Given the description of an element on the screen output the (x, y) to click on. 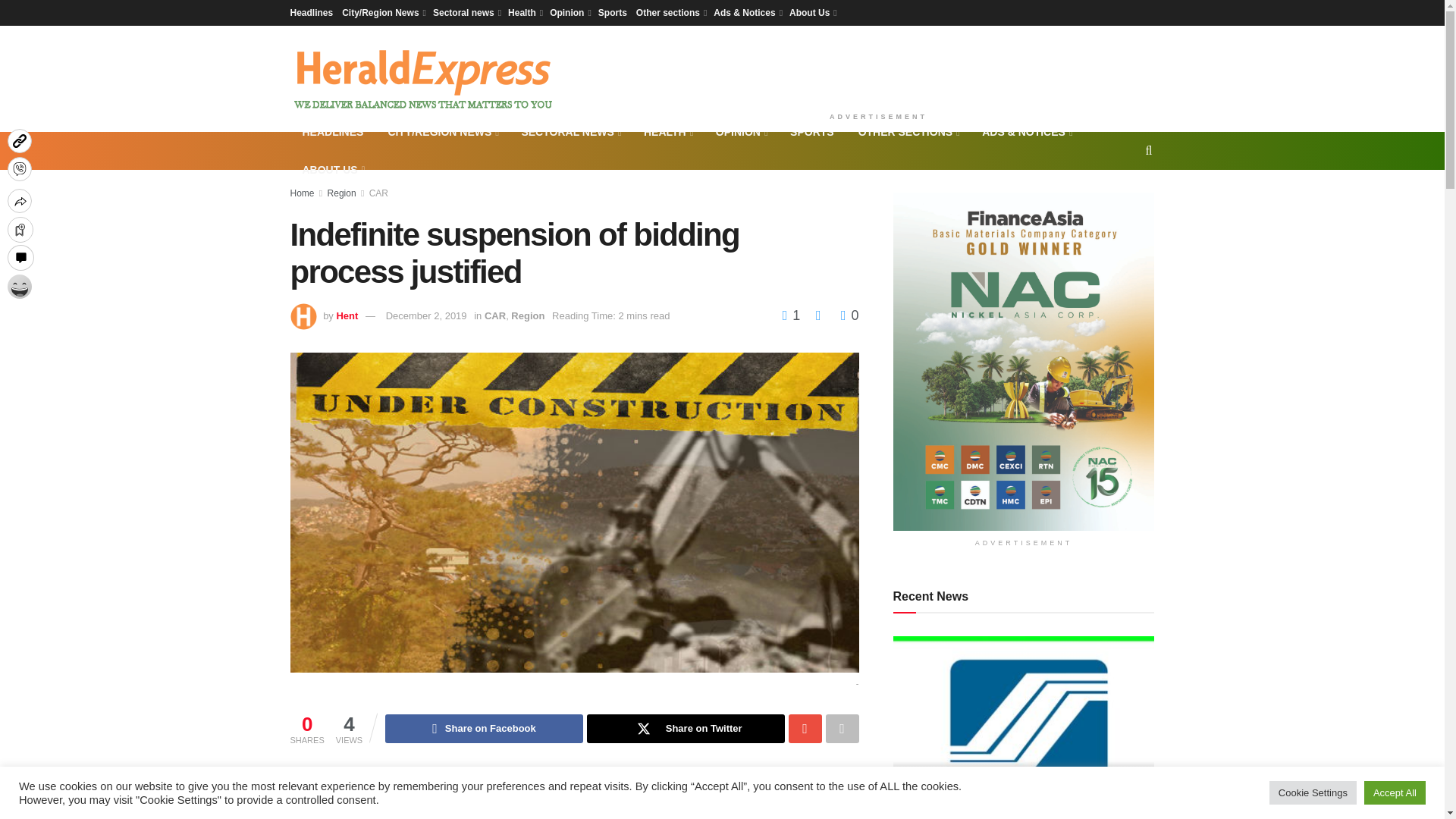
Sectoral news (465, 12)
Health (524, 12)
About Us (811, 12)
Headlines (311, 12)
Other sections (670, 12)
Opinion (569, 12)
Advertisement (878, 65)
Sports (612, 12)
